Given the description of an element on the screen output the (x, y) to click on. 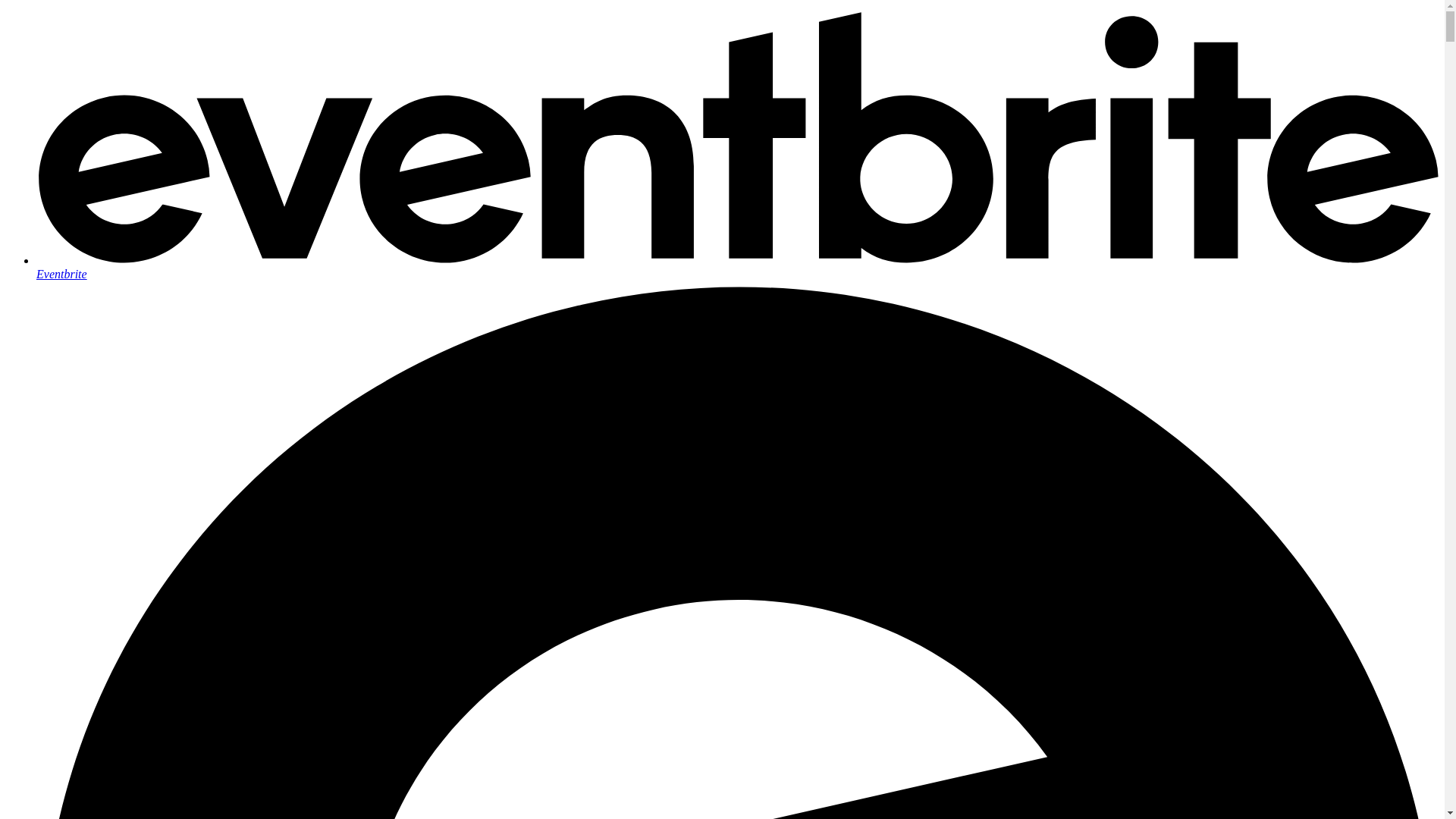
Eventbrite Element type: text (737, 267)
